Given the description of an element on the screen output the (x, y) to click on. 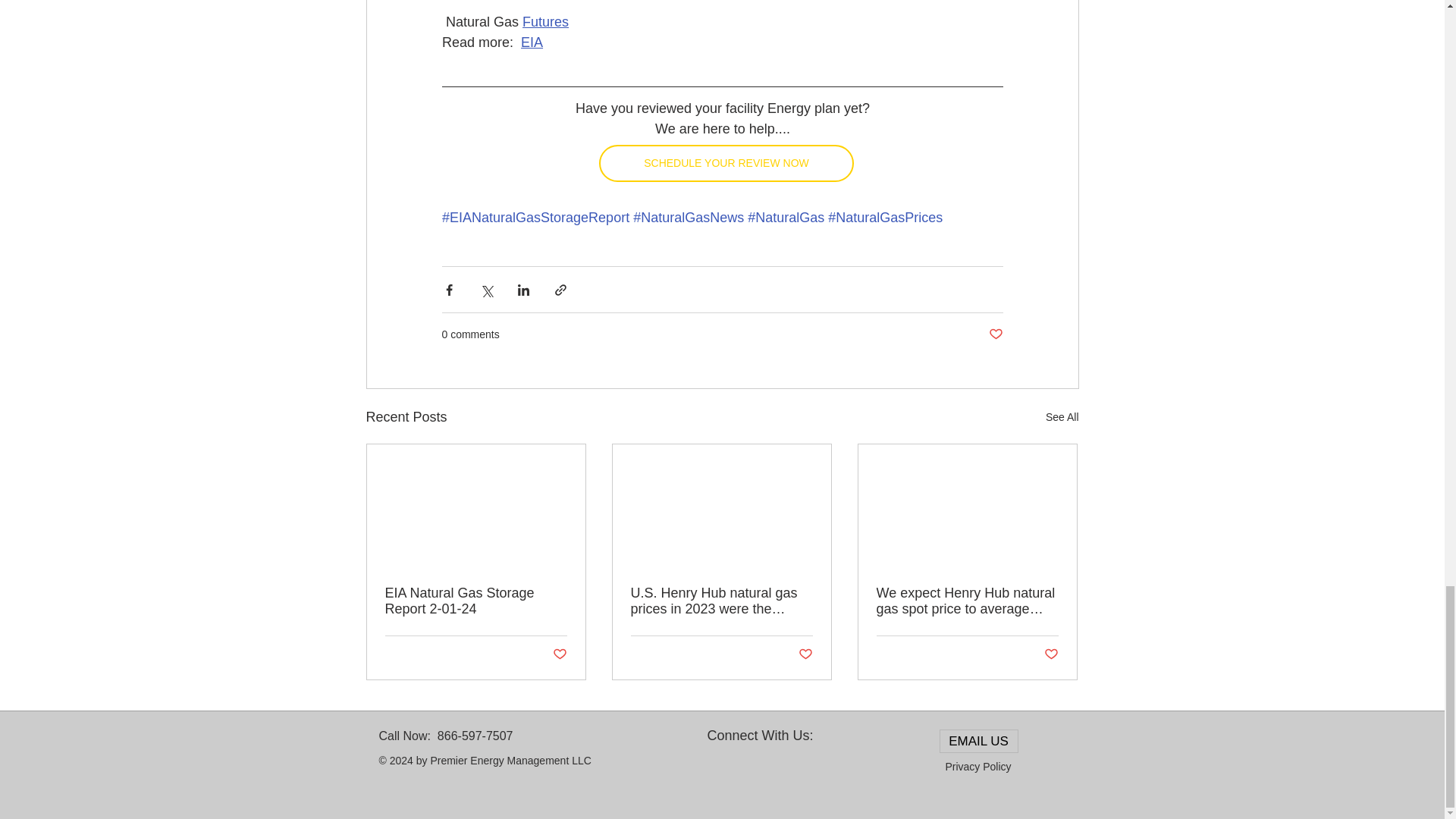
Post not marked as liked (804, 654)
Privacy Policy (977, 766)
Futures (545, 21)
EIA (532, 42)
See All (1061, 417)
Post not marked as liked (1050, 654)
EMAIL US (978, 740)
EIA Natural Gas Storage Report 2-01-24 (476, 601)
Post not marked as liked (995, 334)
SCHEDULE YOUR REVIEW NOW (725, 162)
Post not marked as liked (558, 654)
